Given the description of an element on the screen output the (x, y) to click on. 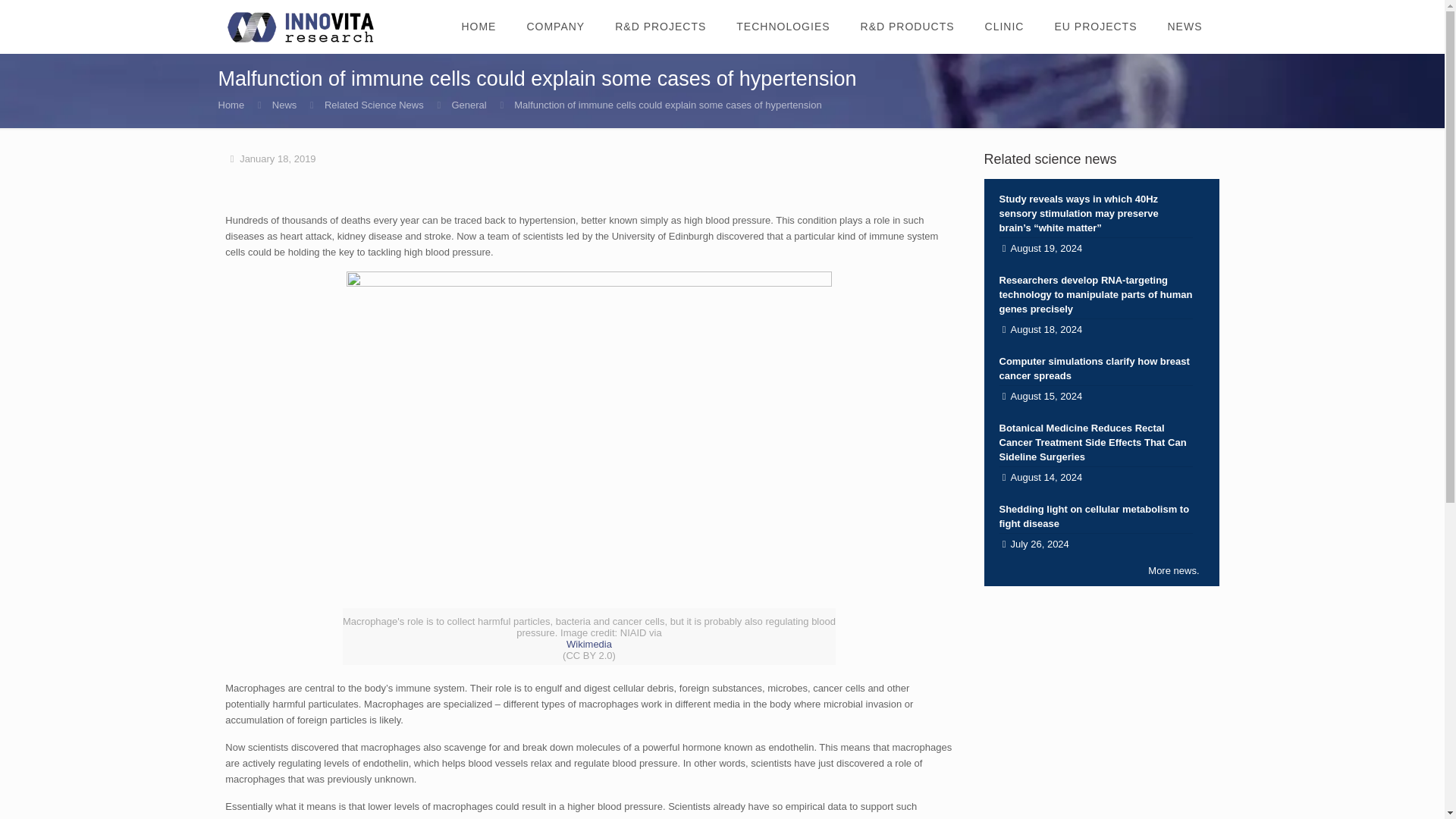
COMPANY (555, 26)
HOME (478, 26)
General (468, 104)
Wikimedia (588, 644)
CLINIC (1004, 26)
NEWS (1185, 26)
Home (231, 104)
News (284, 104)
Related Science News (373, 104)
